Given the description of an element on the screen output the (x, y) to click on. 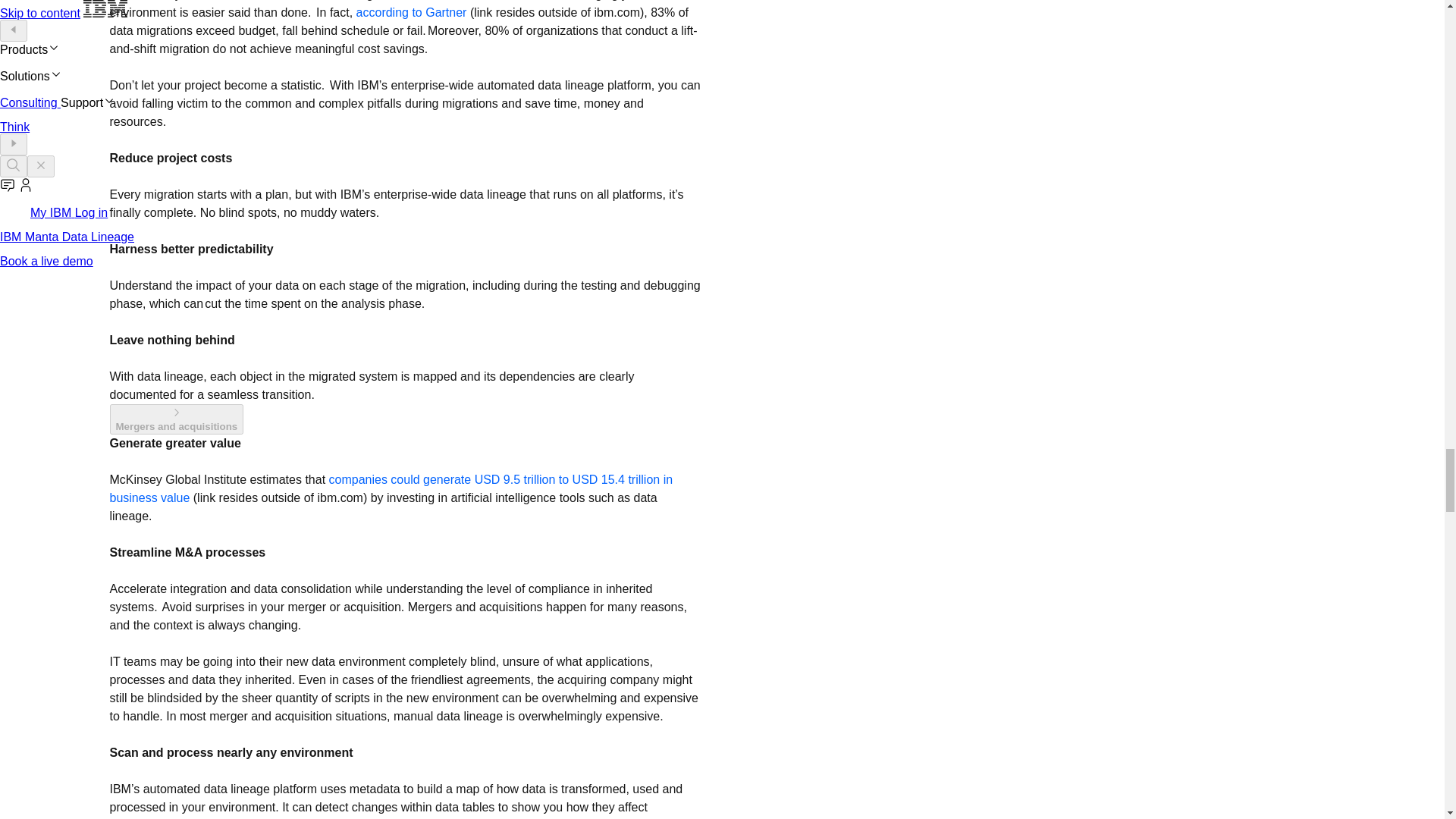
according to Gartner (413, 11)
